Given the description of an element on the screen output the (x, y) to click on. 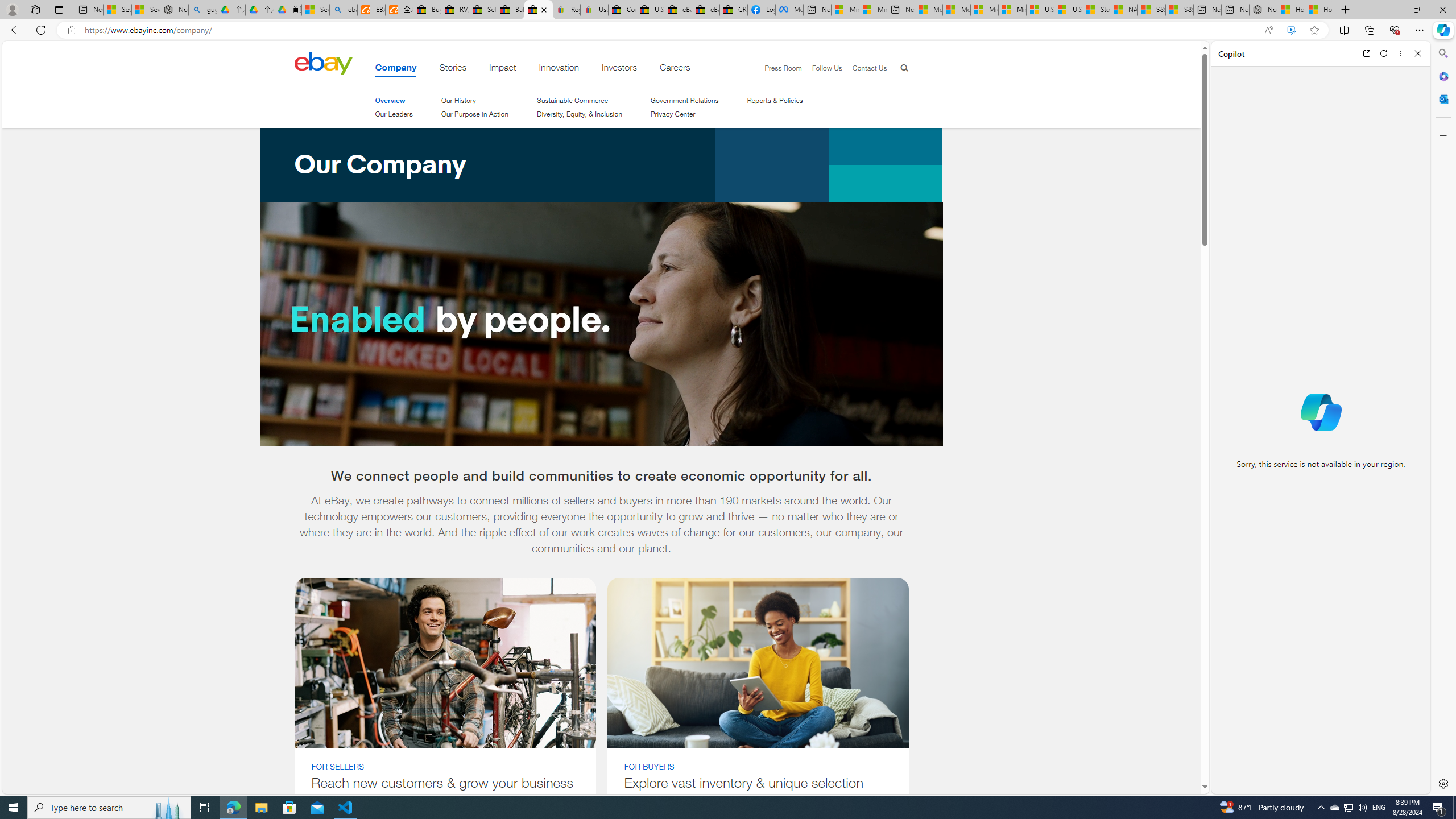
Overview (393, 100)
Privacy Center (684, 113)
Sustainable Commerce (579, 100)
eBay Inc. Reports Third Quarter 2023 Results (706, 9)
Overview (390, 99)
Buy Auto Parts & Accessories | eBay (426, 9)
Stories (453, 69)
Sustainable Commerce (572, 99)
Class: desktop (323, 63)
